Given the description of an element on the screen output the (x, y) to click on. 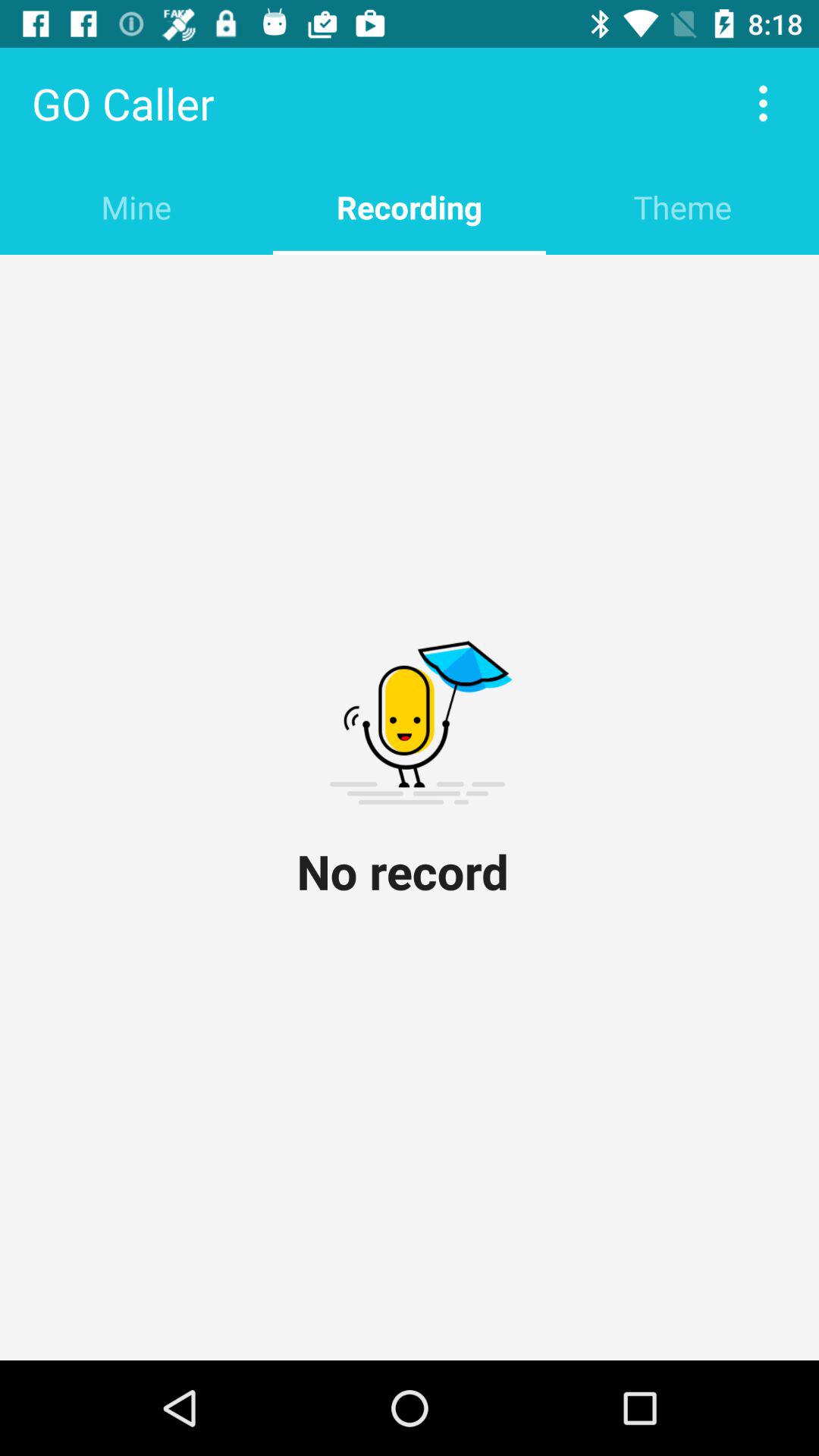
swipe until the theme (682, 206)
